Given the description of an element on the screen output the (x, y) to click on. 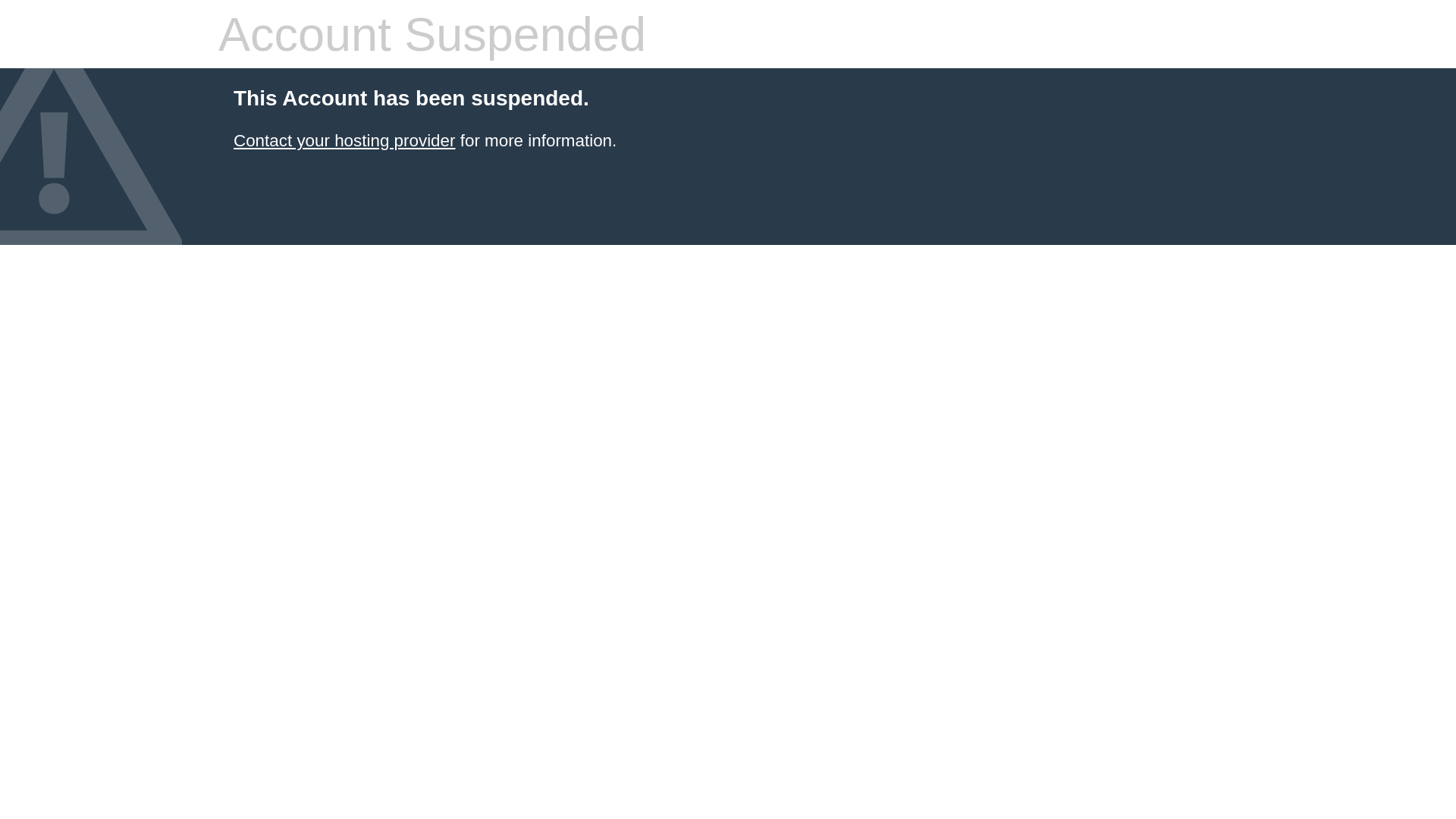
Contact your hosting provider Element type: text (344, 140)
